Given the description of an element on the screen output the (x, y) to click on. 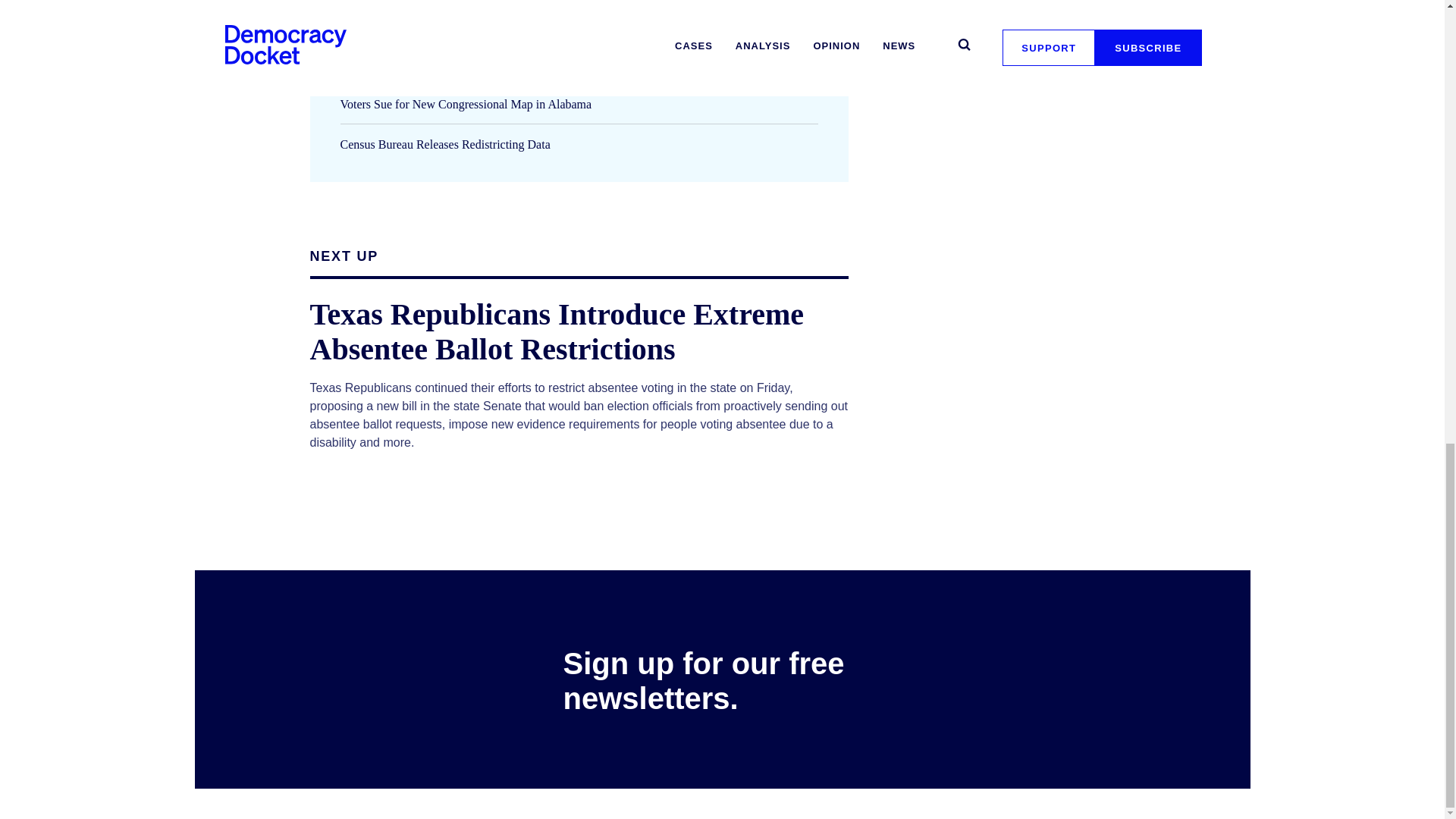
Voters Sue for New Congressional Map in Alabama (465, 103)
Census Bureau Releases Redistricting Data (444, 144)
